Given the description of an element on the screen output the (x, y) to click on. 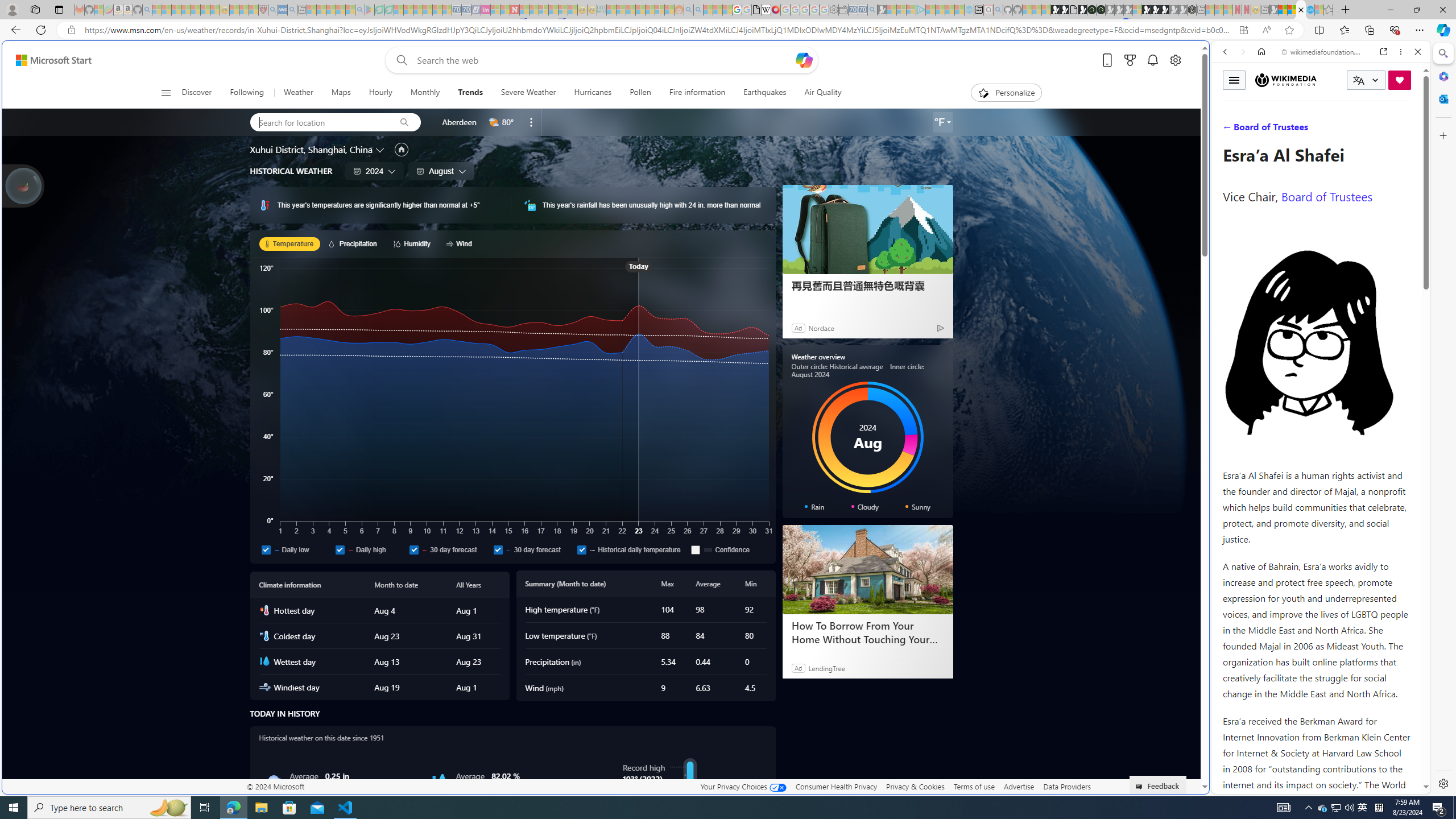
Data Providers (1066, 785)
Class: i icon icon-translate language-switcher__icon (1358, 80)
Frequently visited (965, 151)
